Given the description of an element on the screen output the (x, y) to click on. 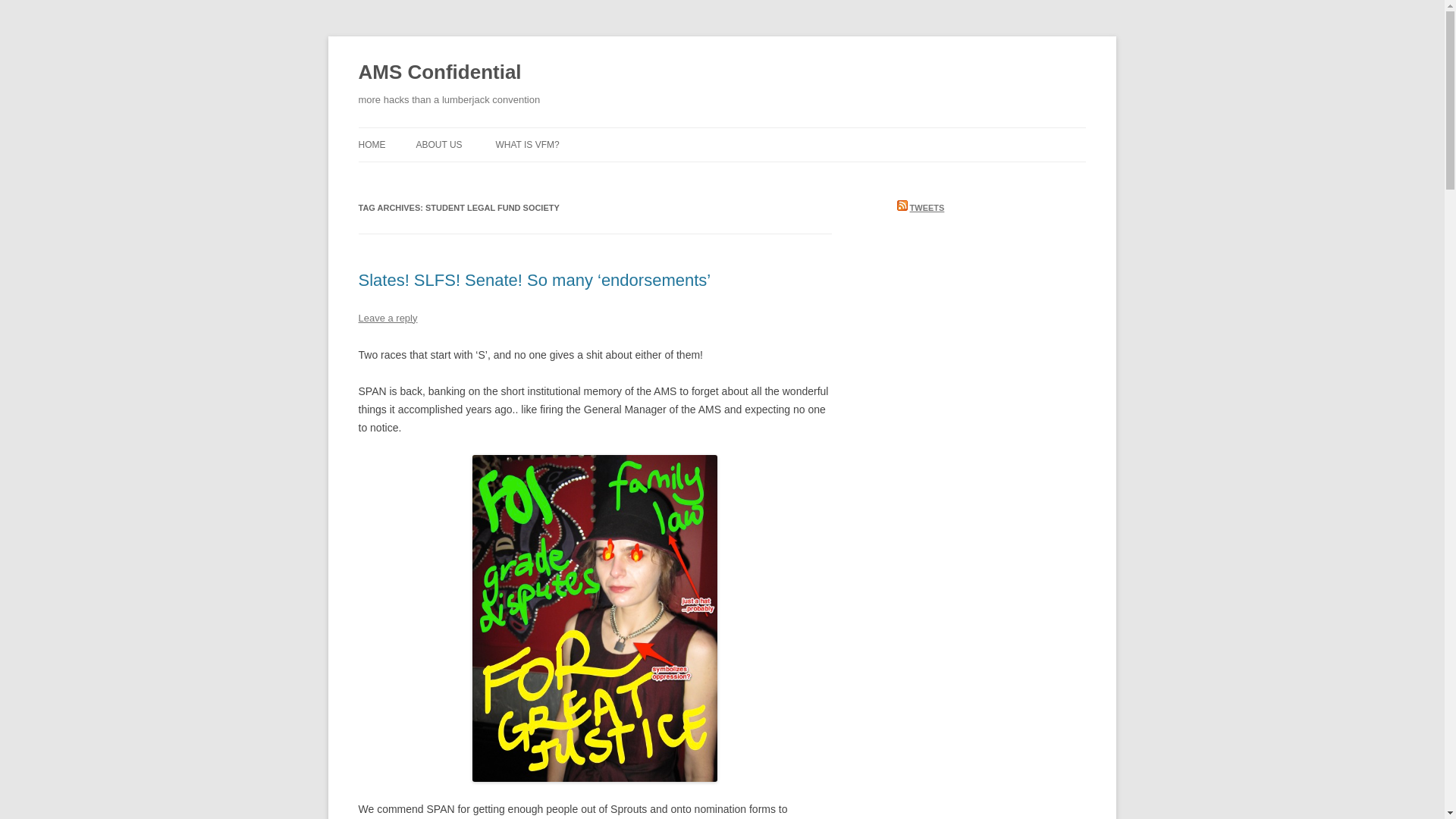
ABOUT US (437, 144)
WHAT IS VFM? (527, 144)
AMS Confidential (439, 72)
AMS Confidential (439, 72)
Leave a reply (387, 317)
